Given the description of an element on the screen output the (x, y) to click on. 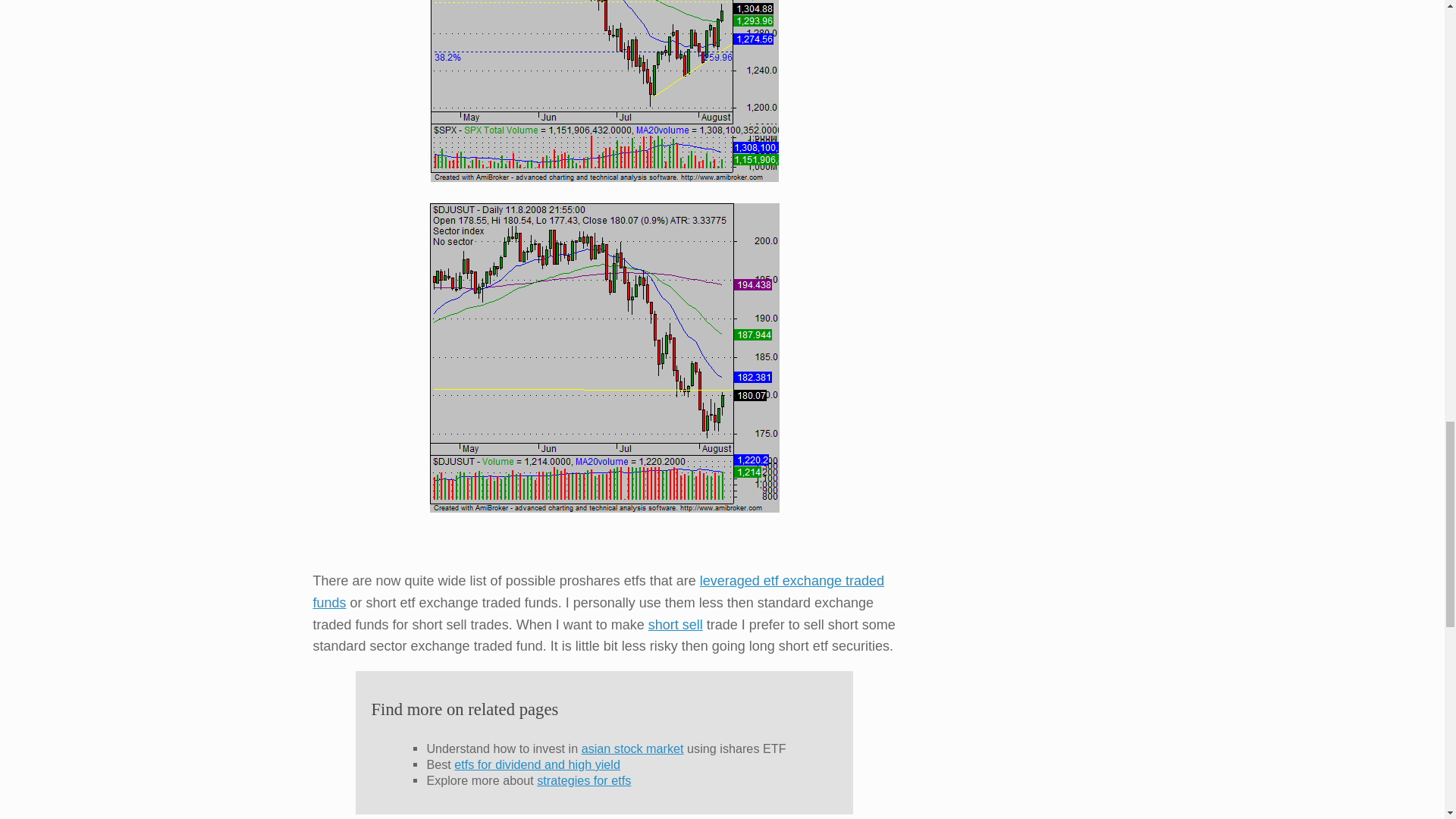
leveraged etf exchange traded funds (598, 591)
short sell (675, 624)
ETF Trading 04 SPX stock chart analysis relative strength (604, 90)
etfs for dividend and high yield (537, 764)
strategies for etfs (583, 780)
asian stock market (632, 748)
